Given the description of an element on the screen output the (x, y) to click on. 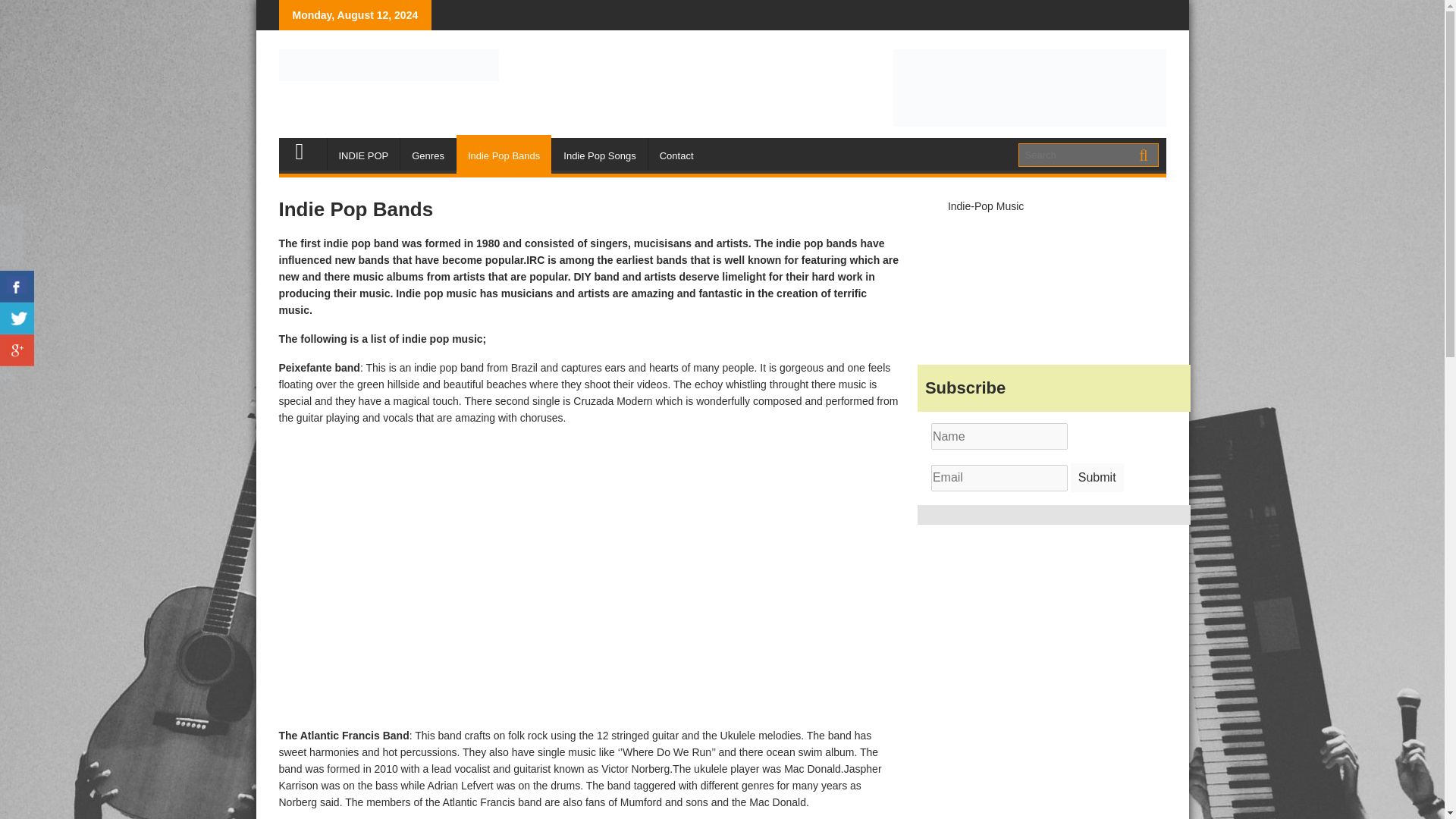
Indie-Pop Music (985, 205)
Genres (427, 156)
Submit (1097, 477)
Indie Pop Bands (504, 156)
Submit (1097, 477)
Contact (675, 156)
INDIE POP (363, 156)
Indie Pop Songs (598, 156)
